Given the description of an element on the screen output the (x, y) to click on. 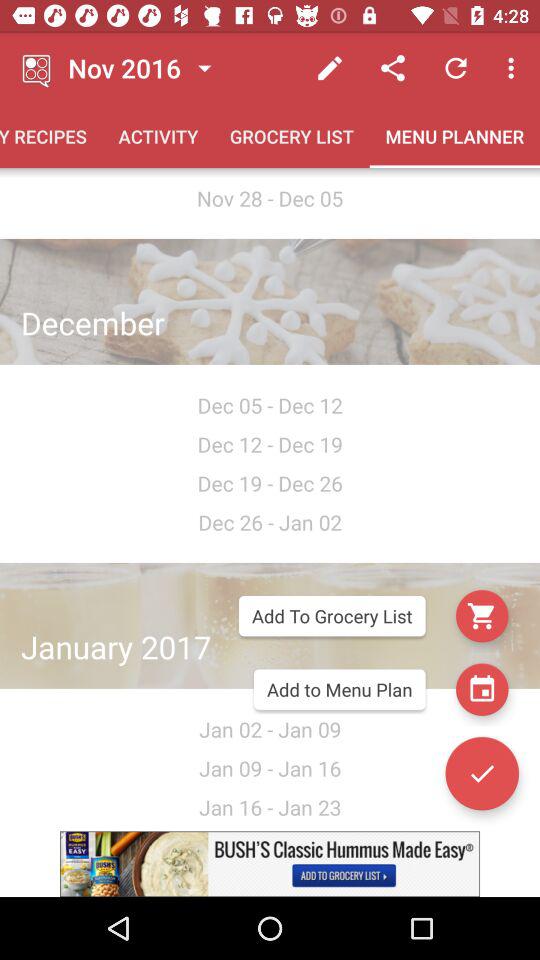
calendar (482, 689)
